Given the description of an element on the screen output the (x, y) to click on. 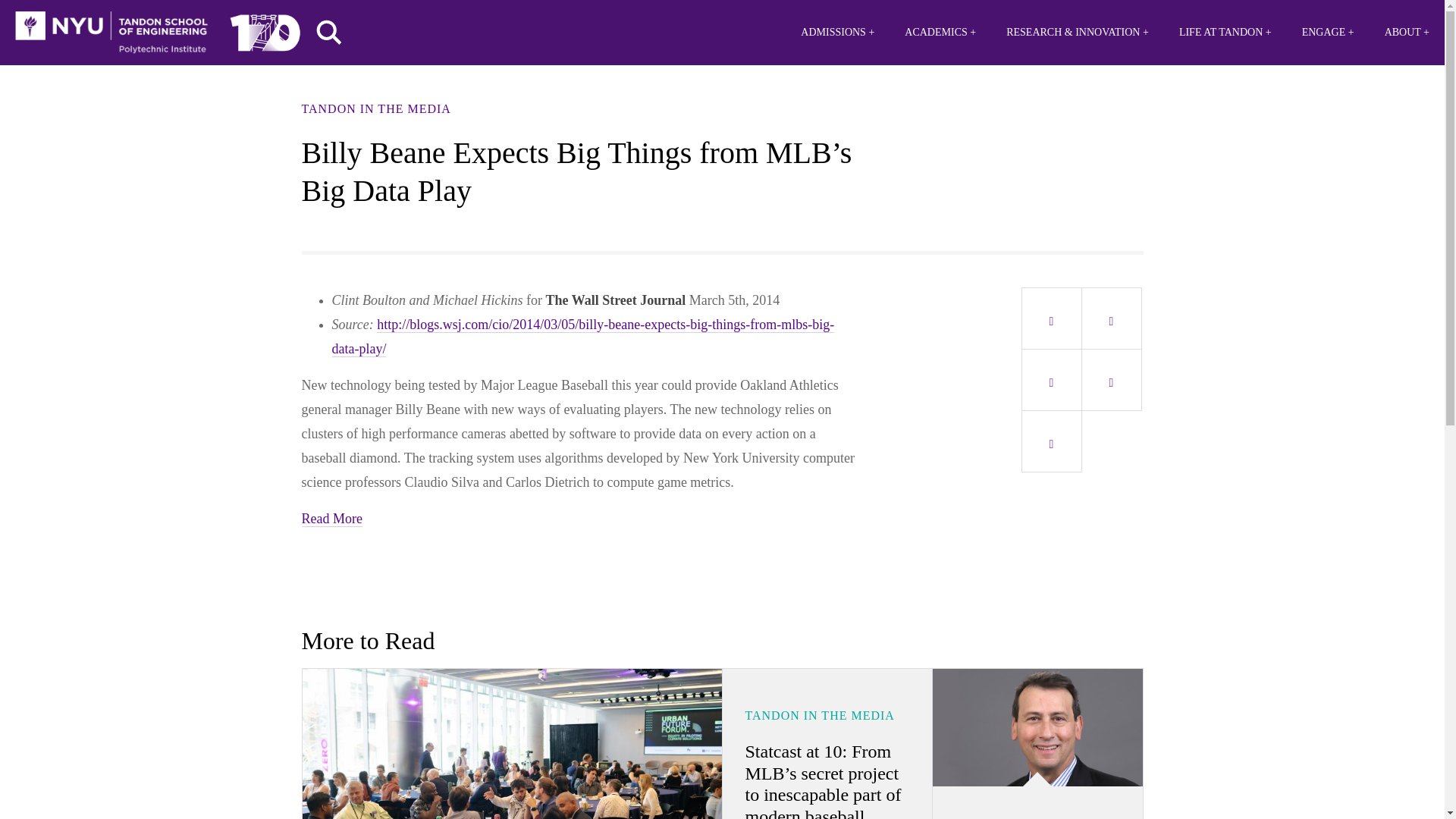
NYU Tandon Logo (111, 32)
NYU Tandon School of Engineering - Polytechnic Institute (111, 32)
NYU Tandon Anniversary (264, 29)
